Given the description of an element on the screen output the (x, y) to click on. 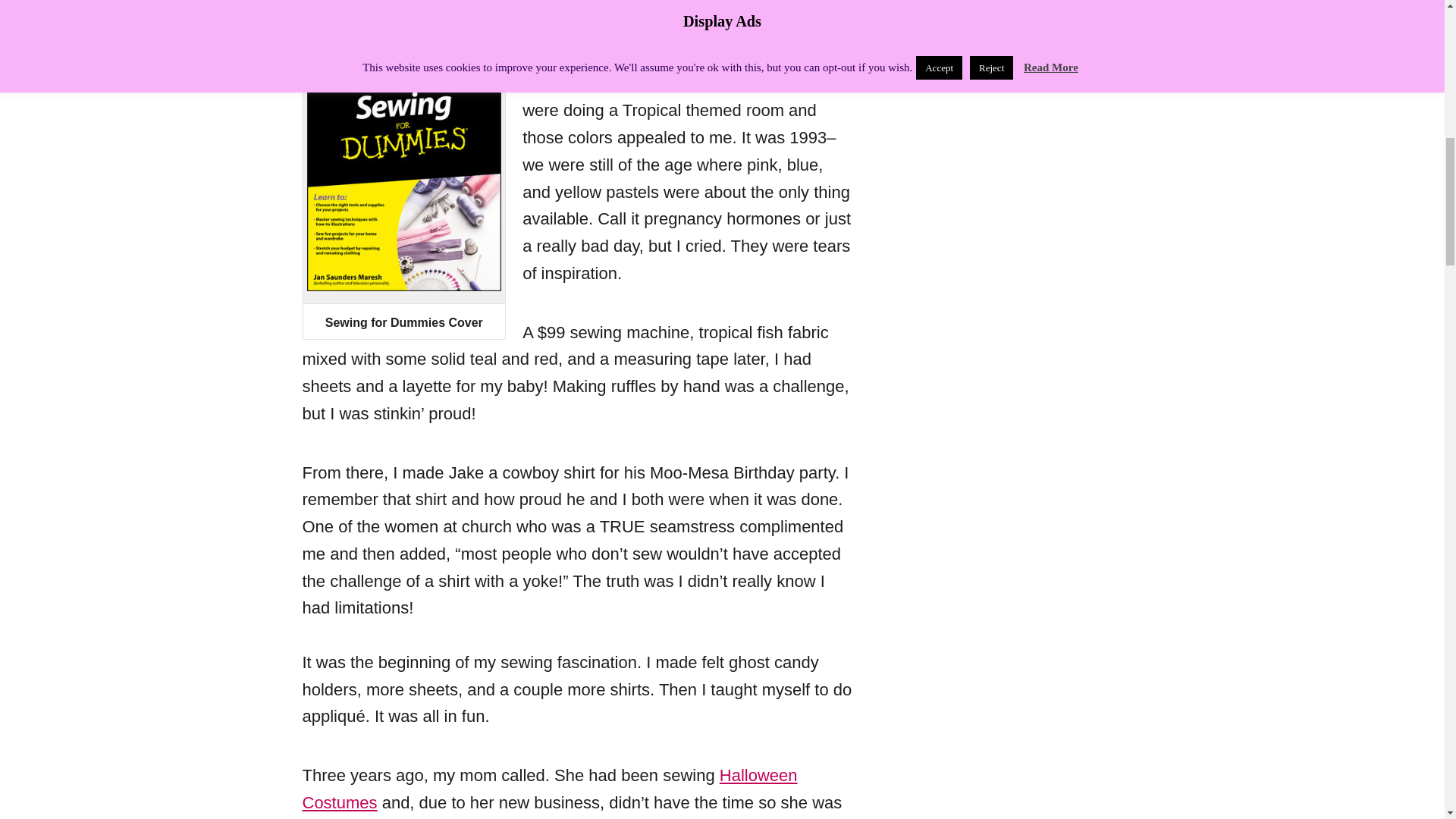
Halloween Costumes (548, 788)
